Given the description of an element on the screen output the (x, y) to click on. 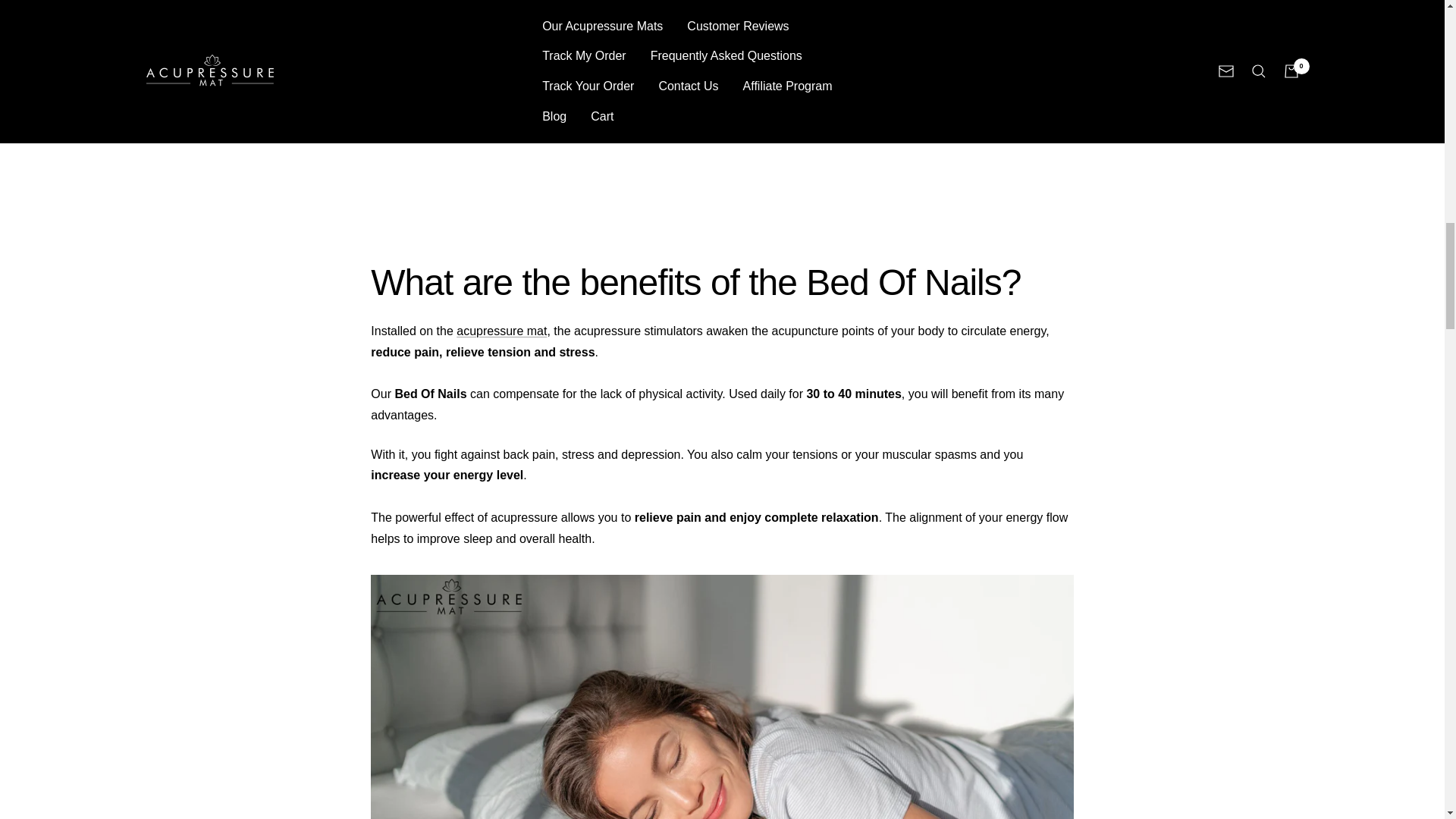
acupressure mat (502, 330)
